Given the description of an element on the screen output the (x, y) to click on. 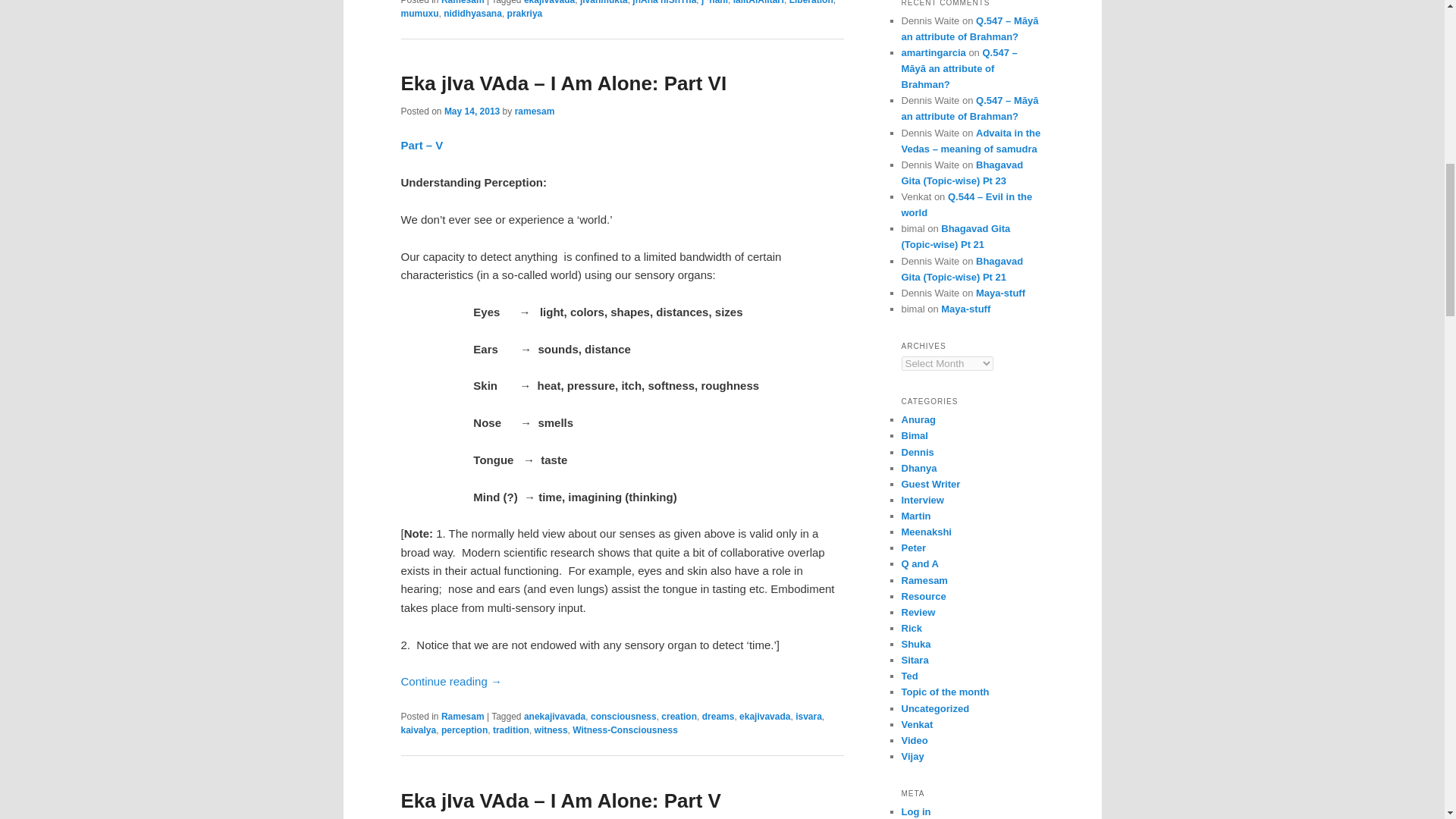
20:16 (471, 111)
View all posts by ramesam (534, 111)
